Given the description of an element on the screen output the (x, y) to click on. 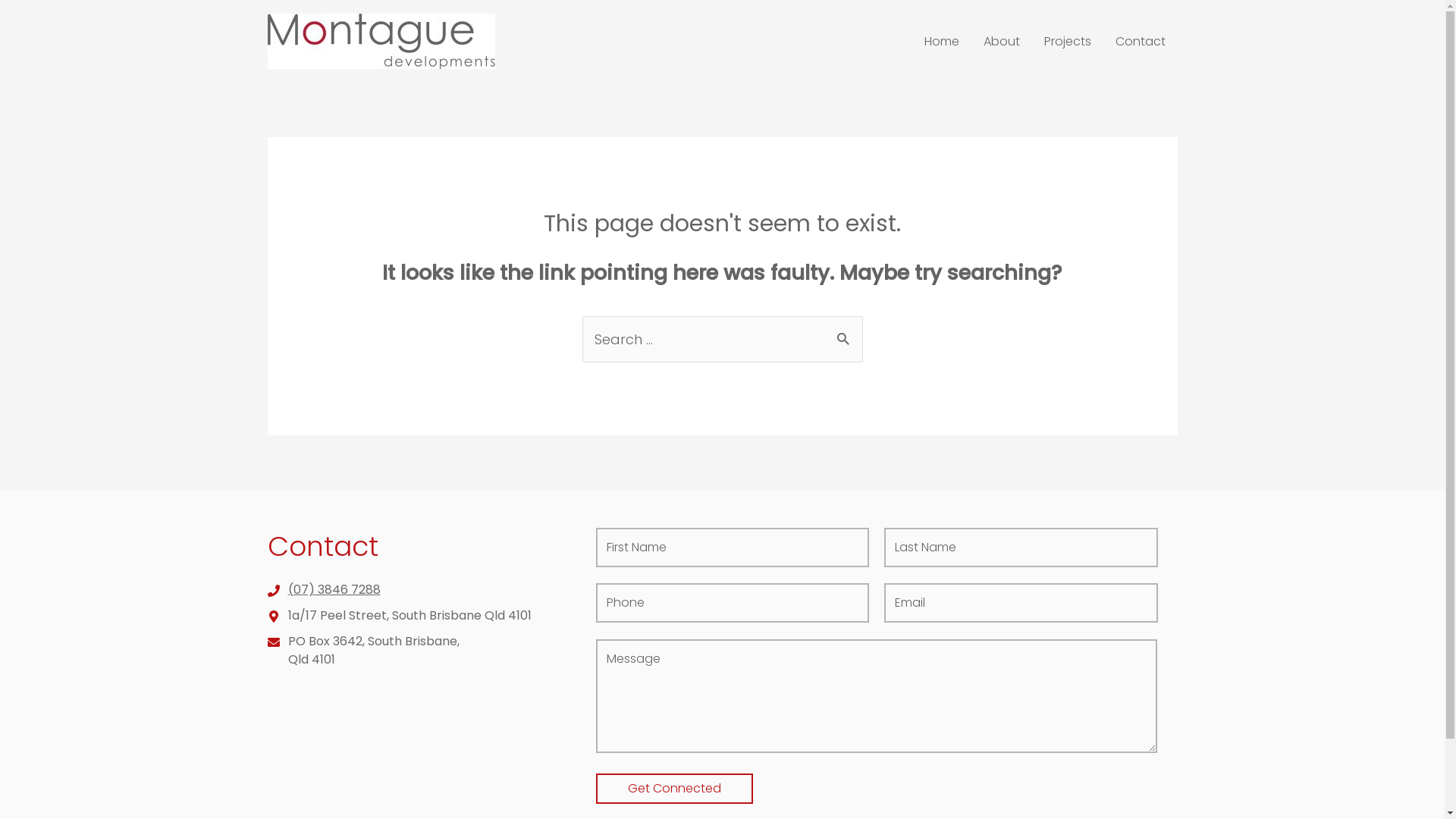
Home Element type: text (940, 41)
Get Connected Element type: text (674, 788)
Projects Element type: text (1066, 41)
(07) 3846 7288 Element type: text (411, 589)
About Element type: text (1000, 41)
Search Element type: text (845, 332)
Contact Element type: text (1139, 41)
